Given the description of an element on the screen output the (x, y) to click on. 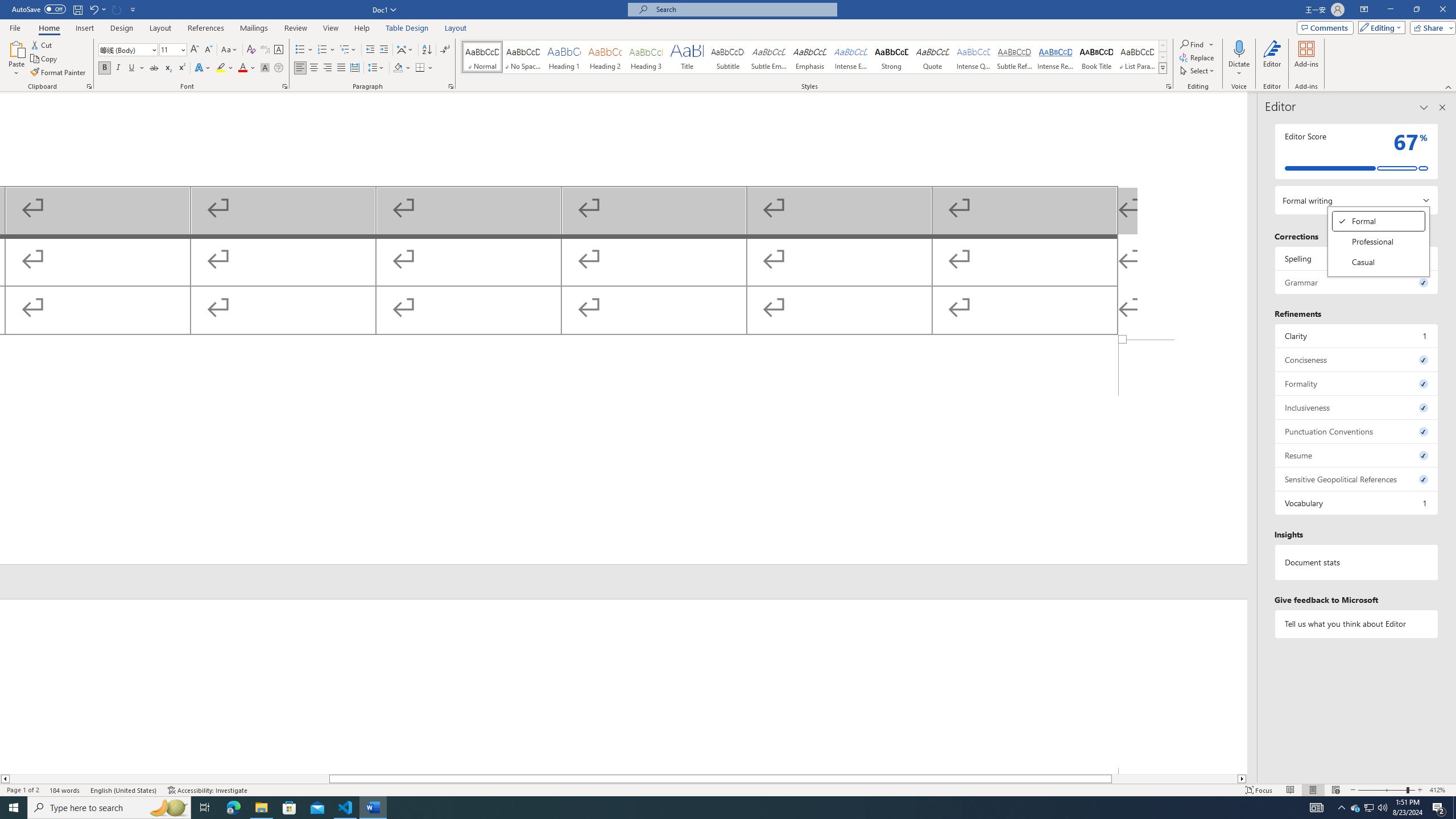
Strong (1378, 221)
Page 1 content (891, 56)
Conciseness, 0 issues. Press space or enter to review items. (623, 215)
Page Number Page 1 of 2 (1356, 359)
